Given the description of an element on the screen output the (x, y) to click on. 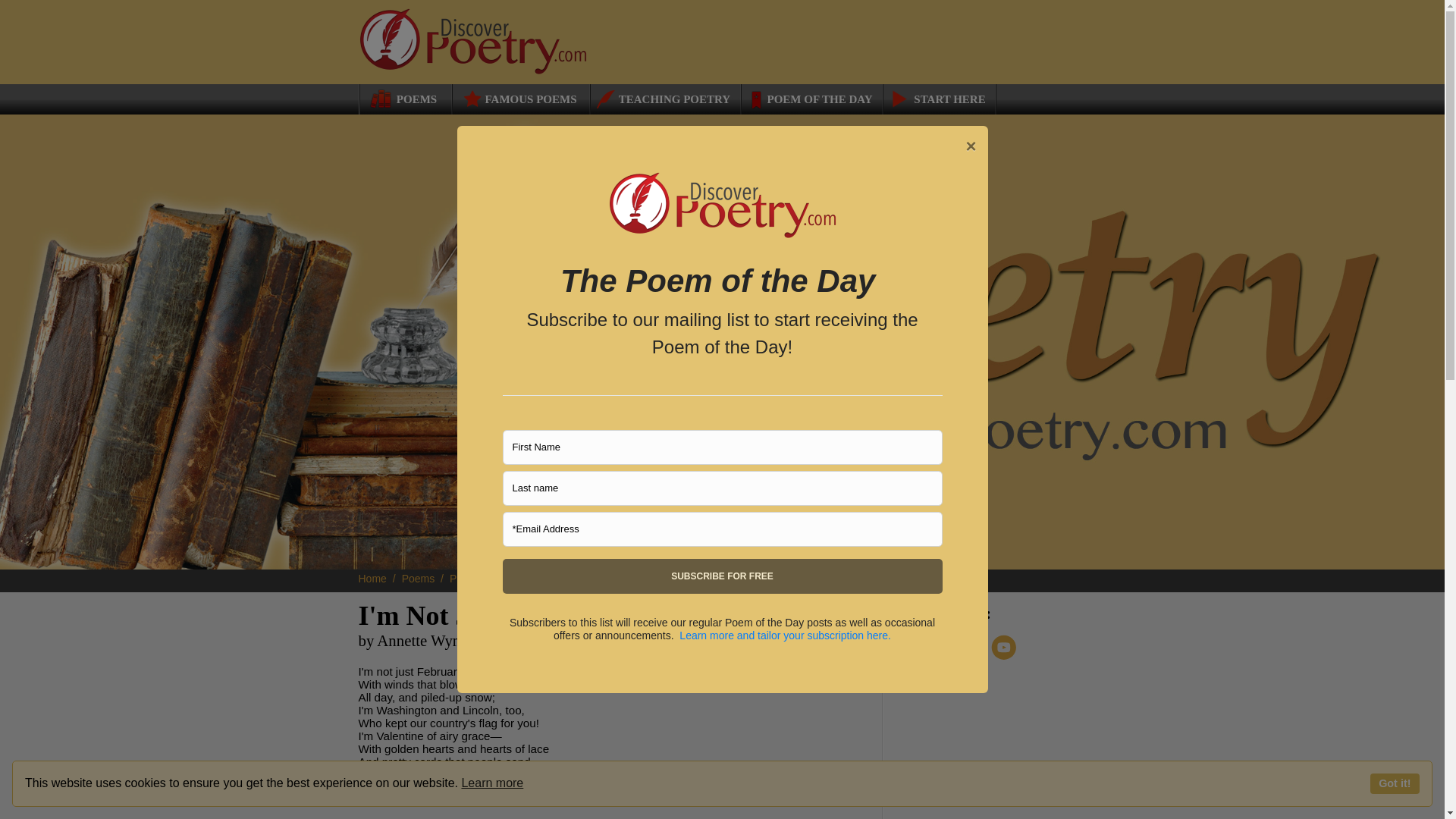
POEMS (400, 99)
Poets (468, 578)
POEM OF THE DAY (811, 99)
START HERE (938, 99)
TEACHING POETRY (660, 99)
Learn more (491, 782)
Annette Wynne (534, 578)
Home (377, 578)
Poems (423, 578)
Got it! (1394, 783)
FAMOUS POEMS (519, 99)
